Given the description of an element on the screen output the (x, y) to click on. 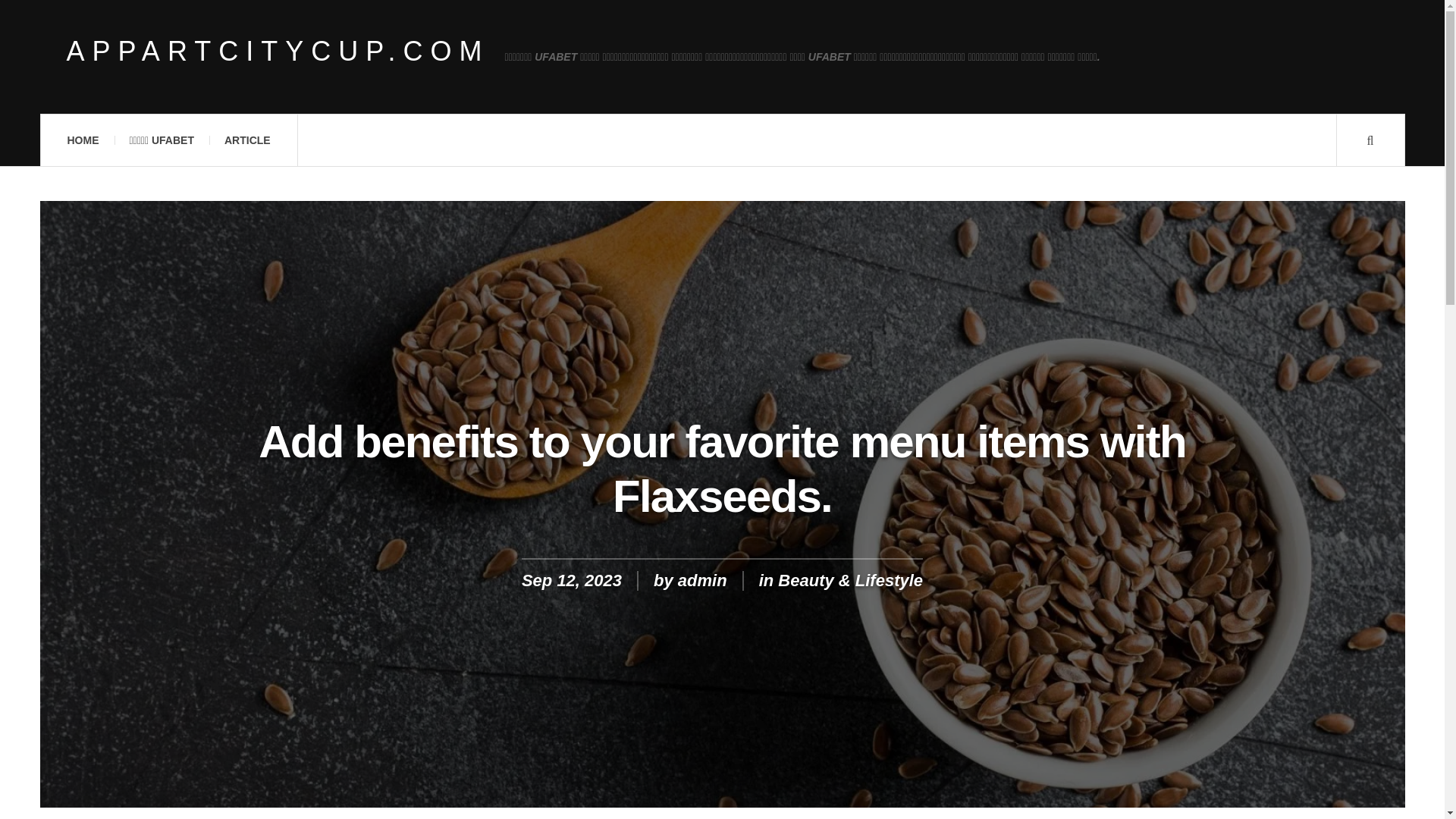
AppArtCityCup.com (277, 51)
admin (702, 579)
HOME (81, 140)
ARTICLE (247, 140)
APPARTCITYCUP.COM (277, 51)
